Given the description of an element on the screen output the (x, y) to click on. 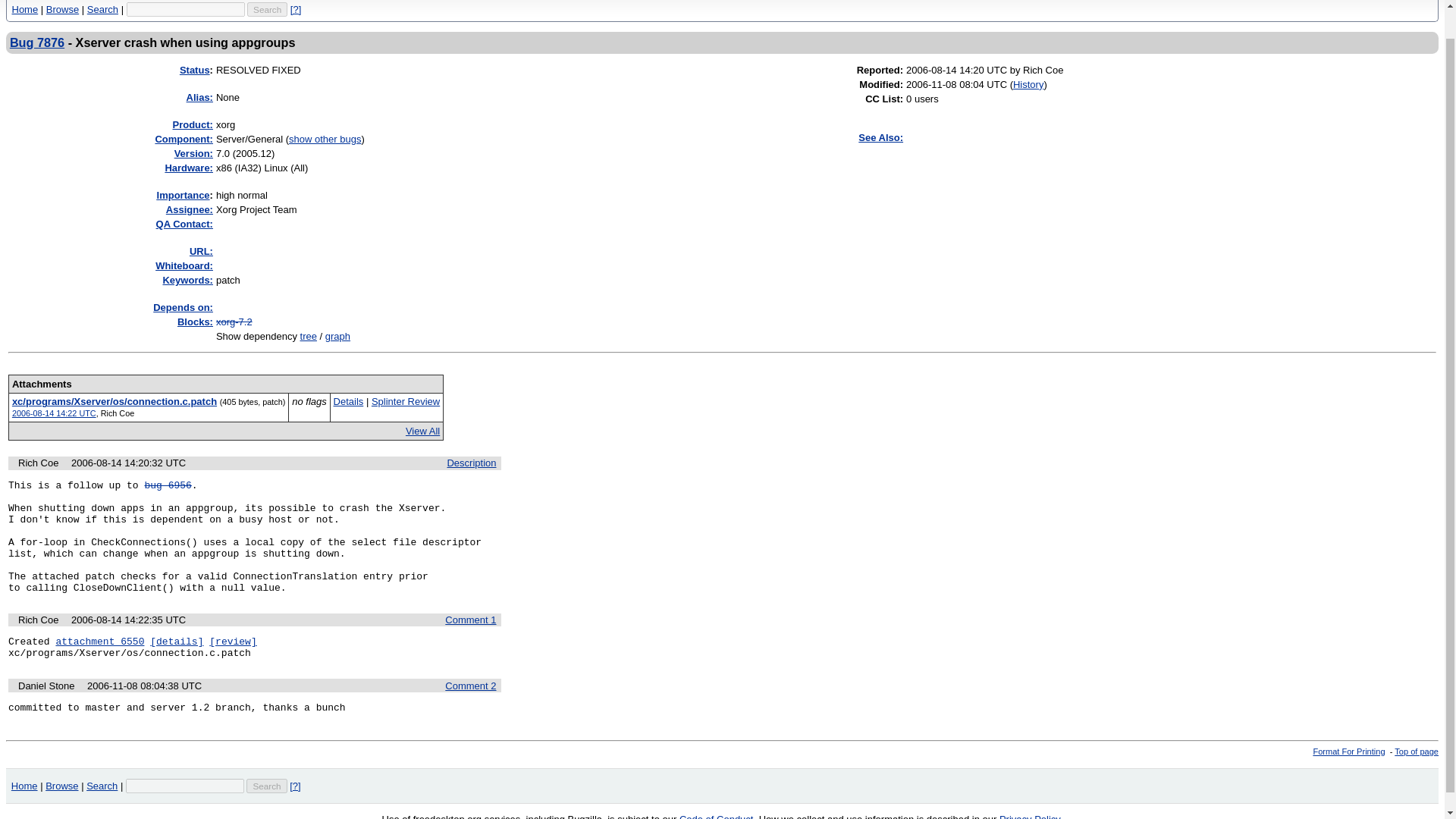
Search (102, 8)
RESOLVED FIXED - 7.2 Release Tracker (233, 321)
View All (422, 430)
Assignee: (188, 209)
History (1028, 84)
Blocks: (194, 321)
attachment 6550 (99, 641)
Description (471, 462)
Depends on: (182, 307)
Search (266, 8)
Keywords: (186, 279)
Product: (192, 124)
